Given the description of an element on the screen output the (x, y) to click on. 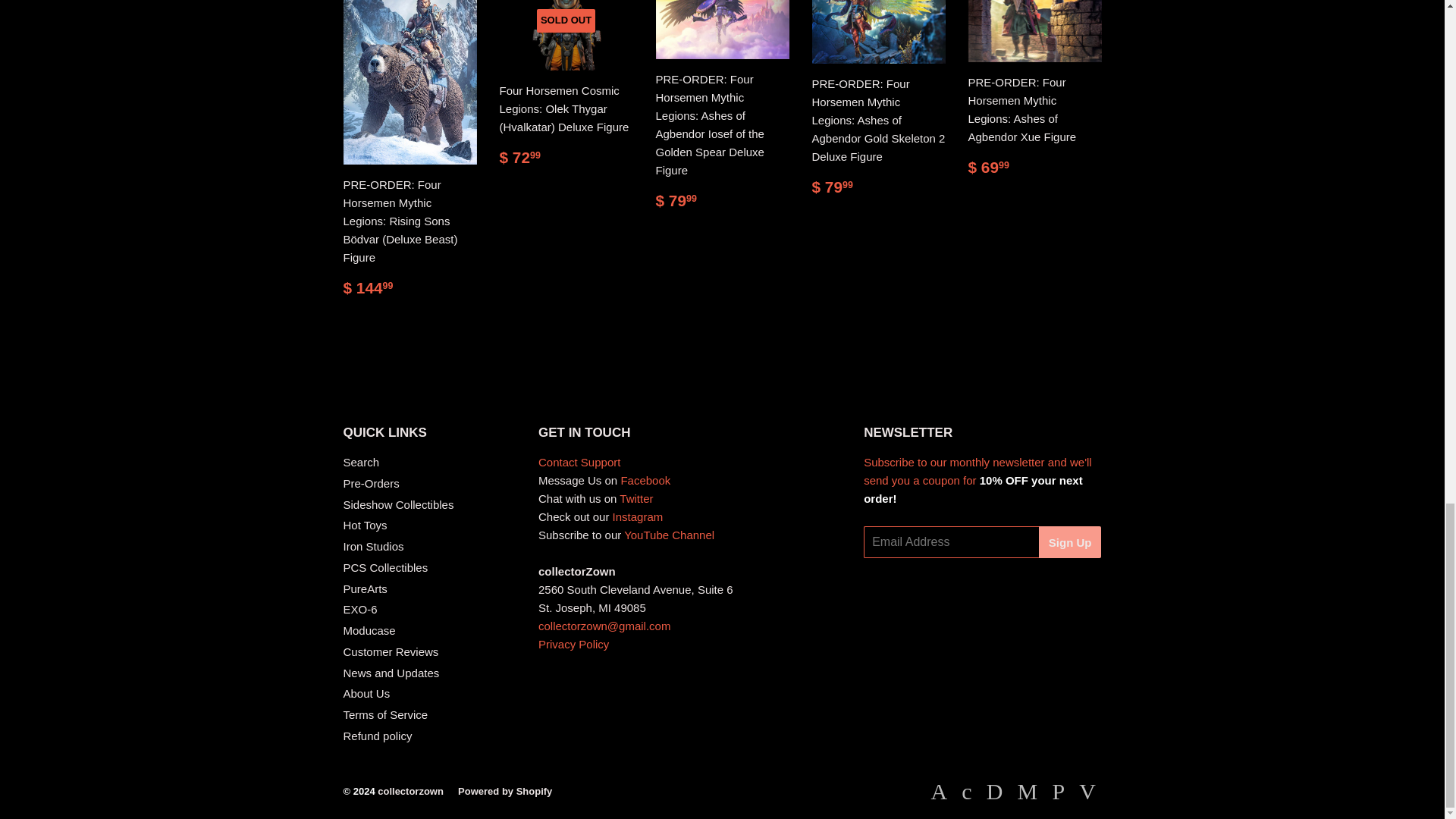
Sign Up (1070, 541)
